Given the description of an element on the screen output the (x, y) to click on. 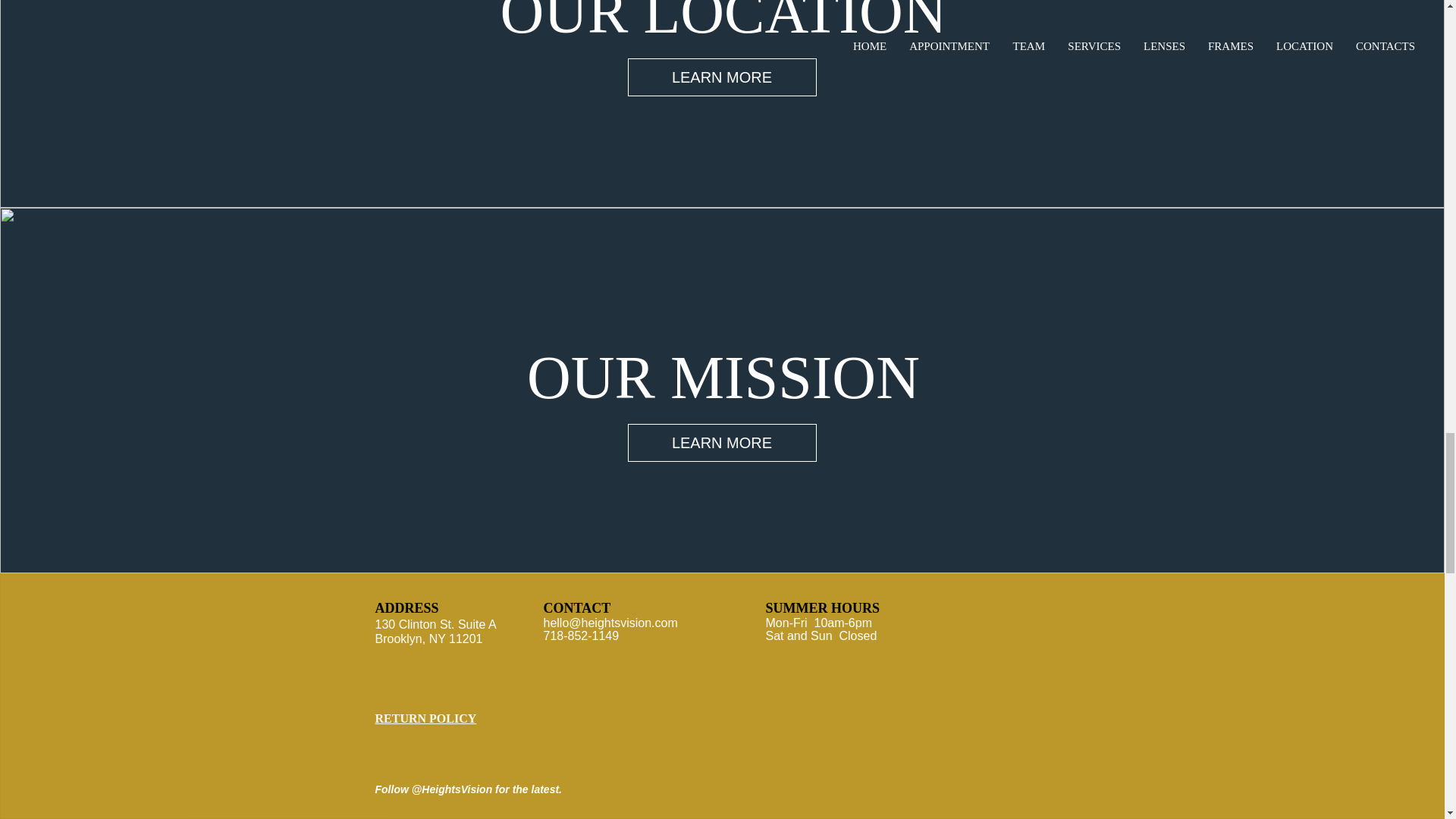
LEARN MORE (721, 77)
LEARN MORE (721, 442)
RETURN POLICY (425, 717)
